Given the description of an element on the screen output the (x, y) to click on. 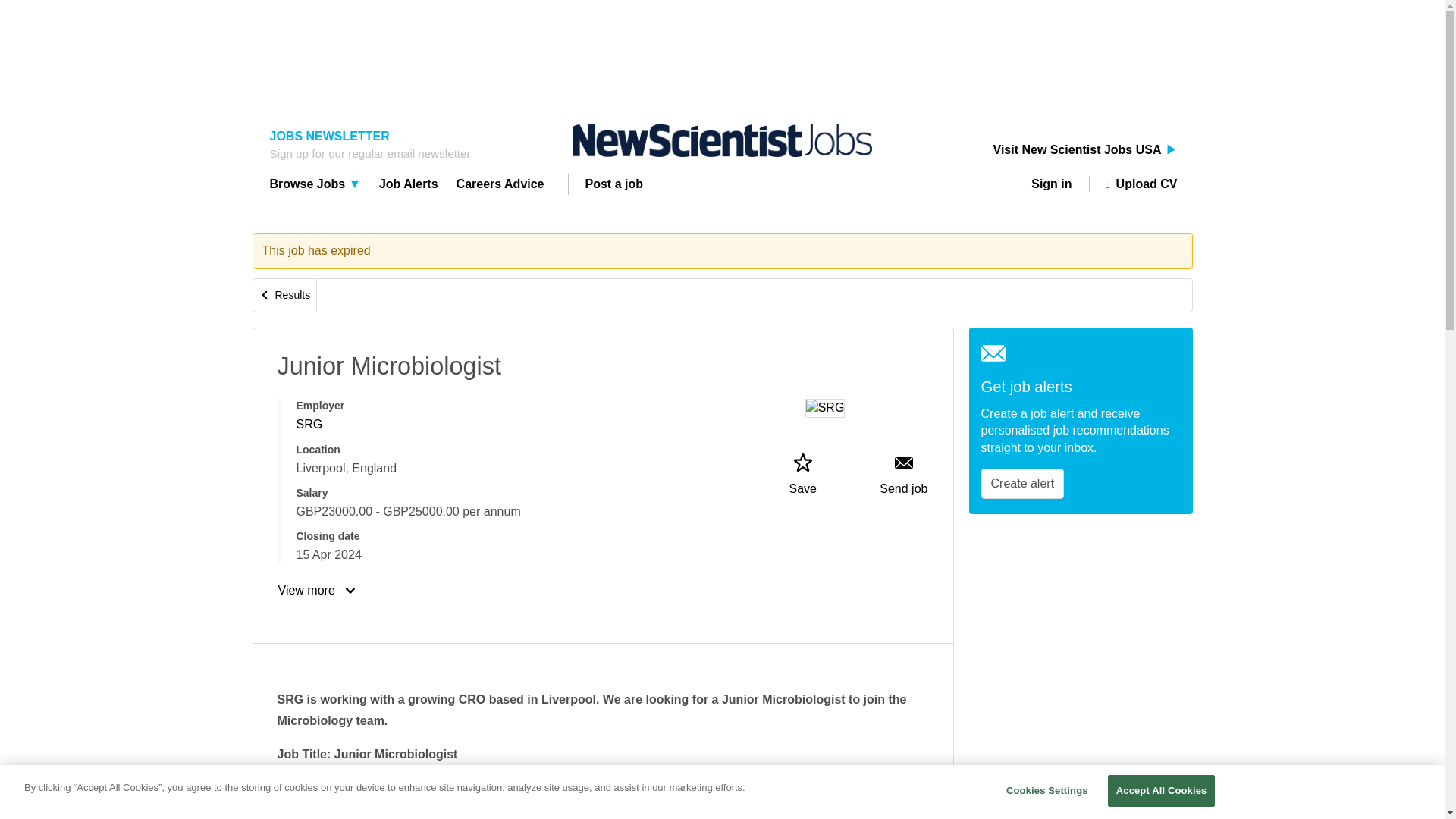
Job Alerts (409, 186)
Post a job (614, 186)
Sign in (1057, 183)
Results (285, 295)
Careers Advice (500, 186)
SRG (308, 423)
New Scientist Jobs (722, 140)
View more (318, 590)
Visit New Scientist Jobs USA (1084, 149)
Upload CV (1133, 183)
